Given the description of an element on the screen output the (x, y) to click on. 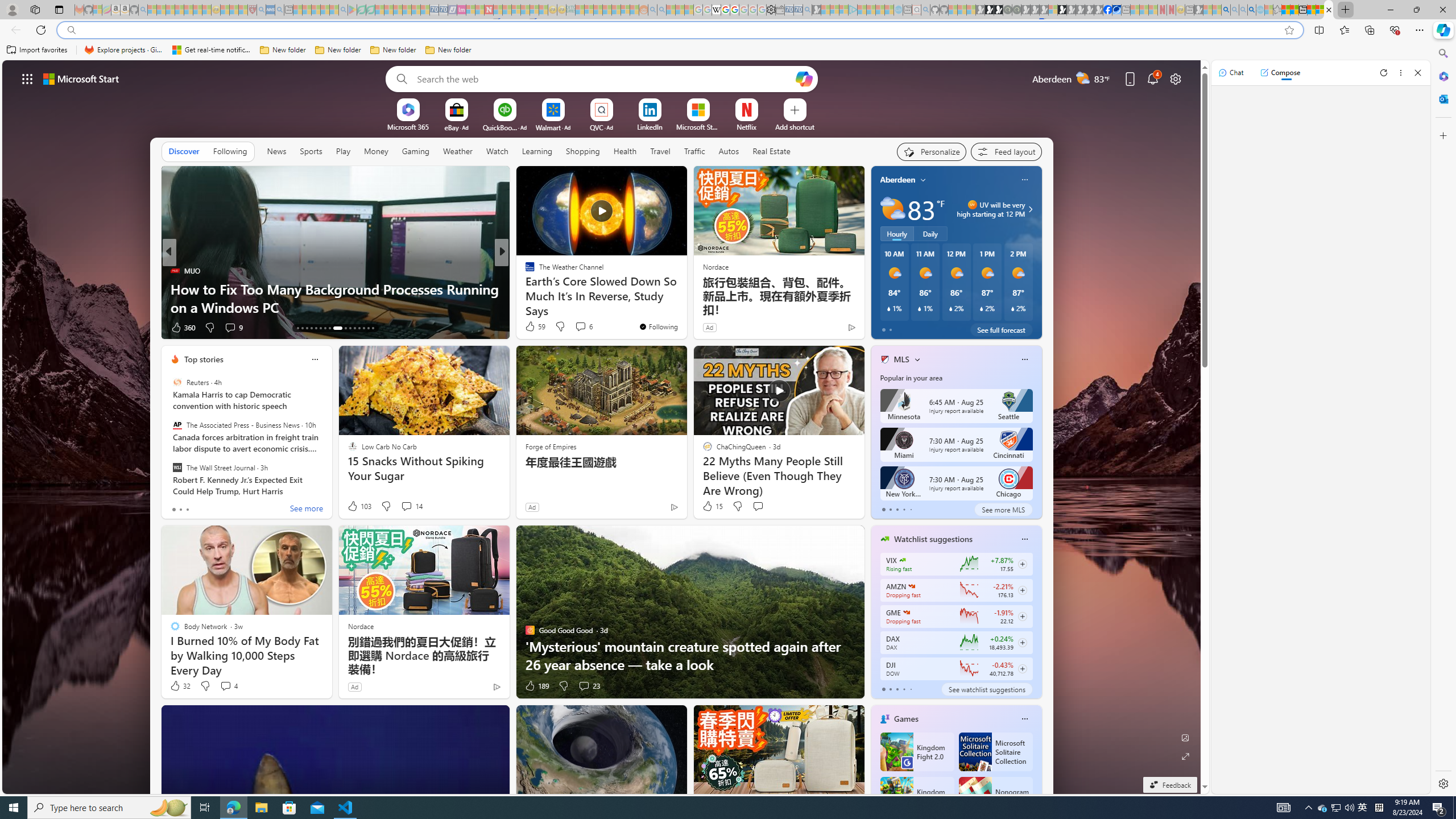
Bluey: Let's Play! - Apps on Google Play - Sleeping (352, 9)
github - Search - Sleeping (924, 9)
AutomationID: tab-18 (320, 328)
View comments 23 Comment (588, 685)
XDA Developers (524, 270)
AutomationID: tab-28 (372, 328)
Class: weather-current-precipitation-glyph (1012, 308)
Kingdom Fight (916, 796)
utah sues federal government - Search - Sleeping (279, 9)
Giant Freakin Robot (524, 288)
Target page - Wikipedia (716, 9)
